Given the description of an element on the screen output the (x, y) to click on. 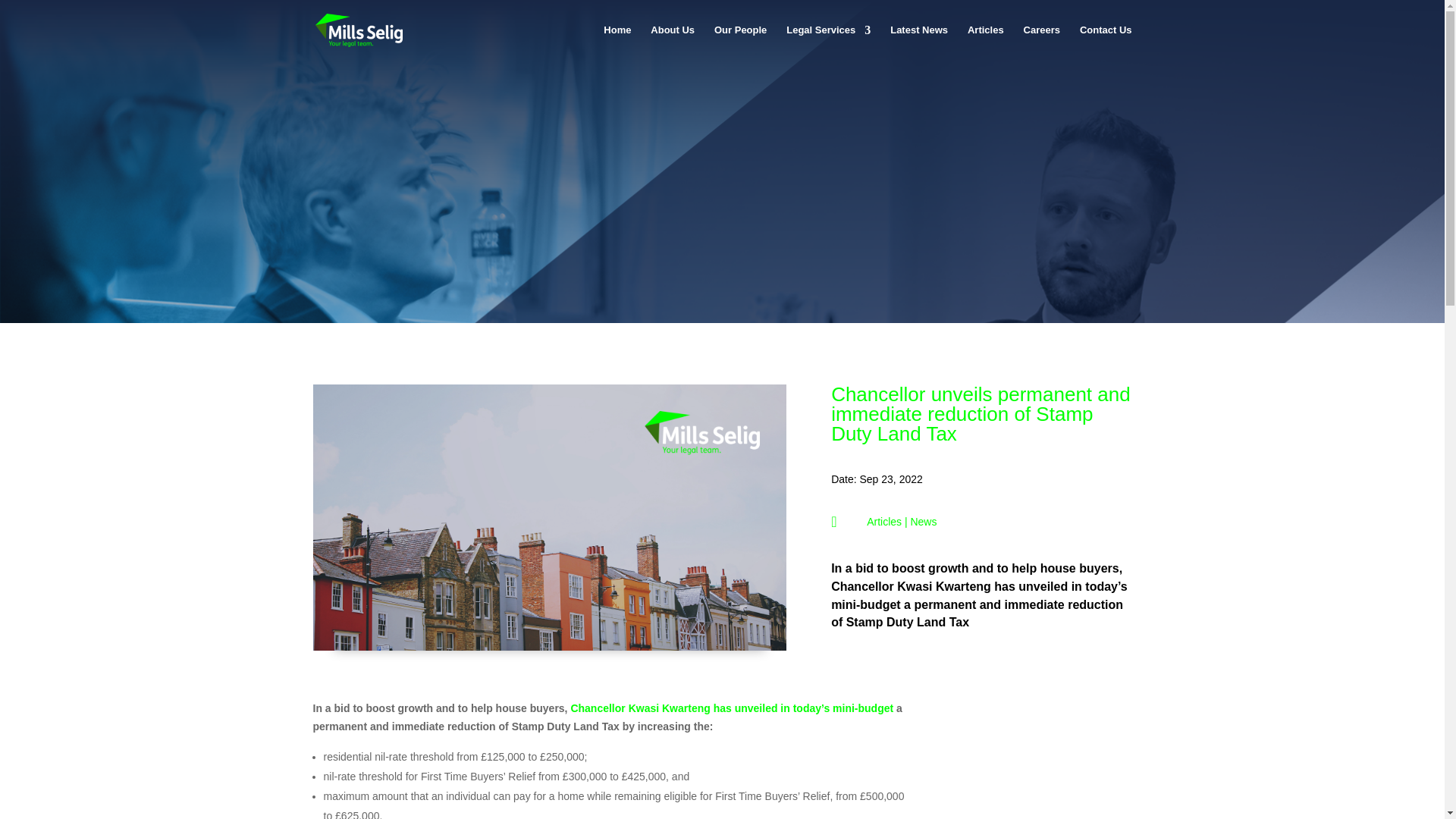
Articles (986, 42)
About Us (672, 42)
Our People (740, 42)
Careers (1041, 42)
Contact Us (1106, 42)
Legal Services (828, 42)
Home (617, 42)
Latest News (918, 42)
